Given the description of an element on the screen output the (x, y) to click on. 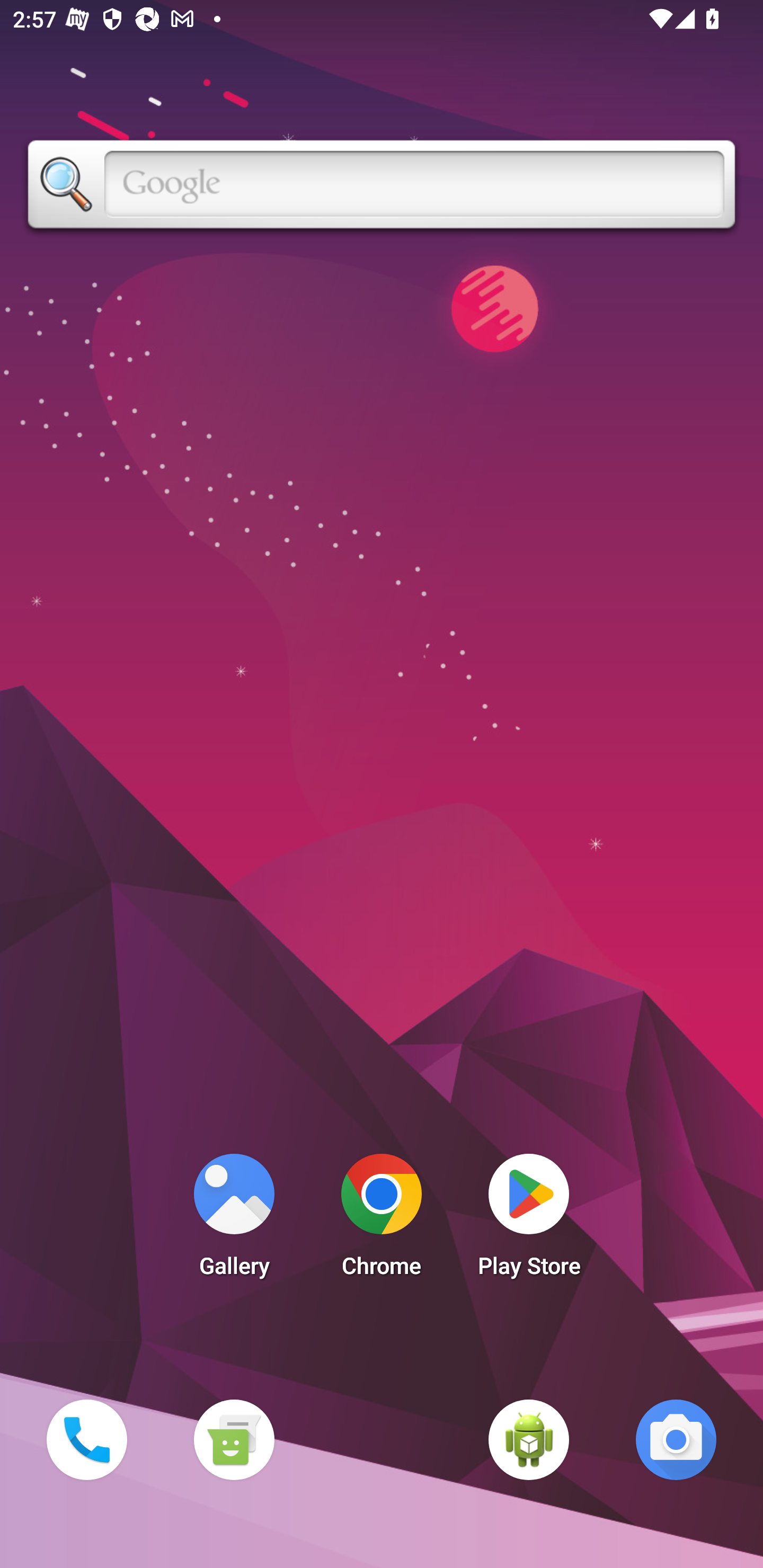
Gallery (233, 1220)
Chrome (381, 1220)
Play Store (528, 1220)
Phone (86, 1439)
Messaging (233, 1439)
WebView Browser Tester (528, 1439)
Camera (676, 1439)
